Given the description of an element on the screen output the (x, y) to click on. 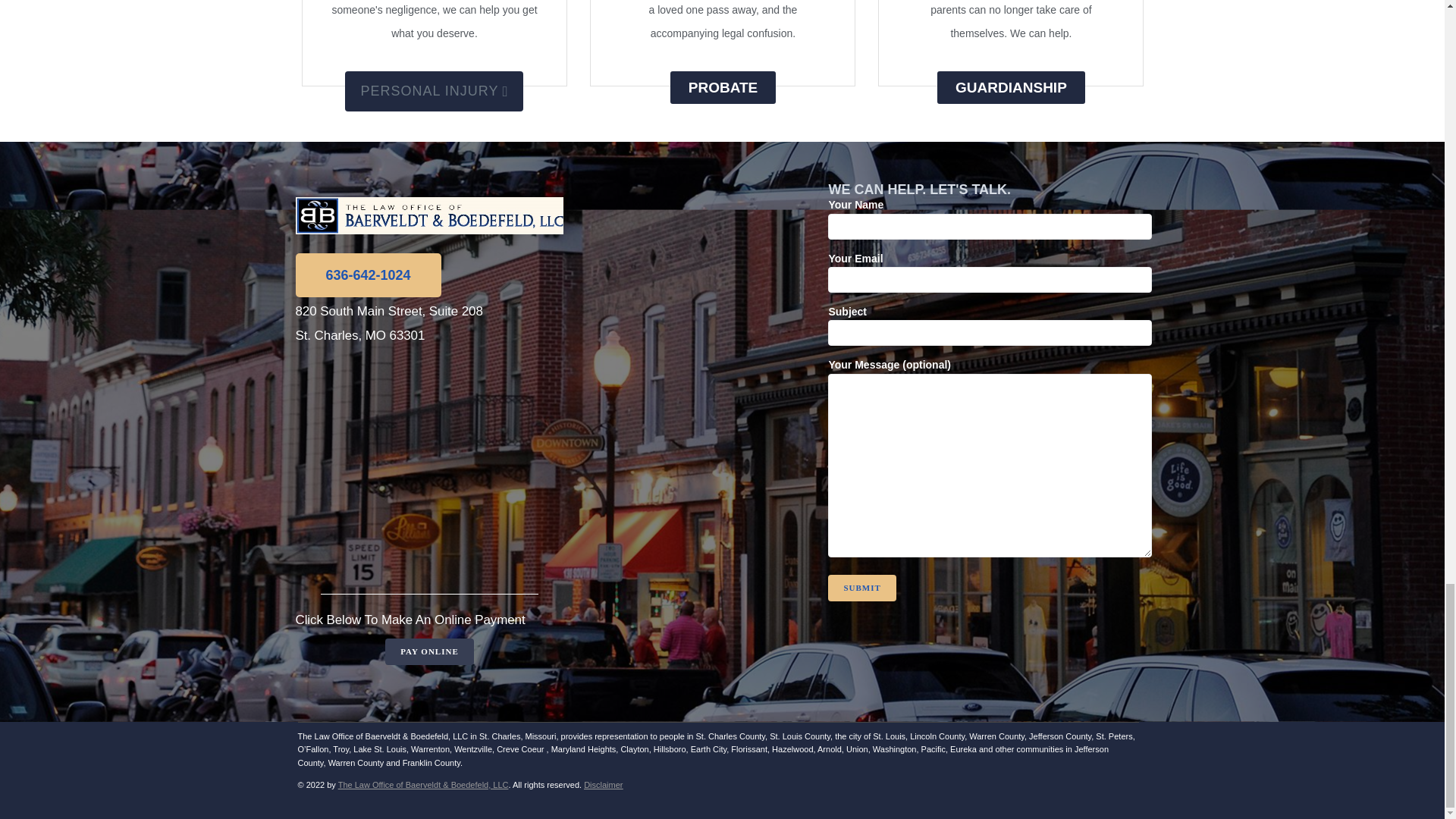
Submit (861, 587)
820 South Main Street, Ste 208 Saint Charles, MO 63301-2726 (429, 468)
Pay Online (429, 651)
